Given the description of an element on the screen output the (x, y) to click on. 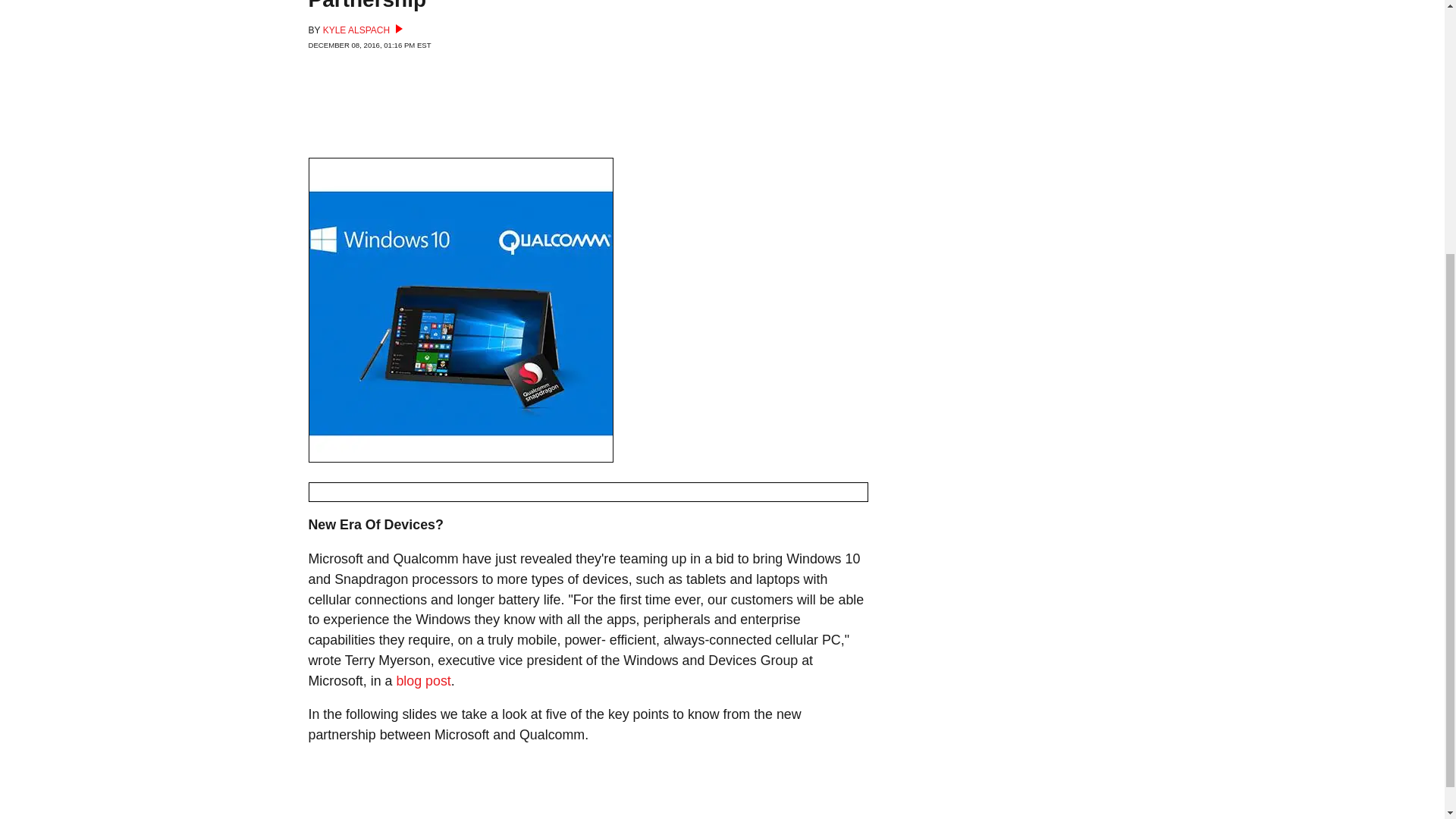
blog post (422, 680)
blog post (422, 680)
KYLE ALSPACH (363, 30)
